Given the description of an element on the screen output the (x, y) to click on. 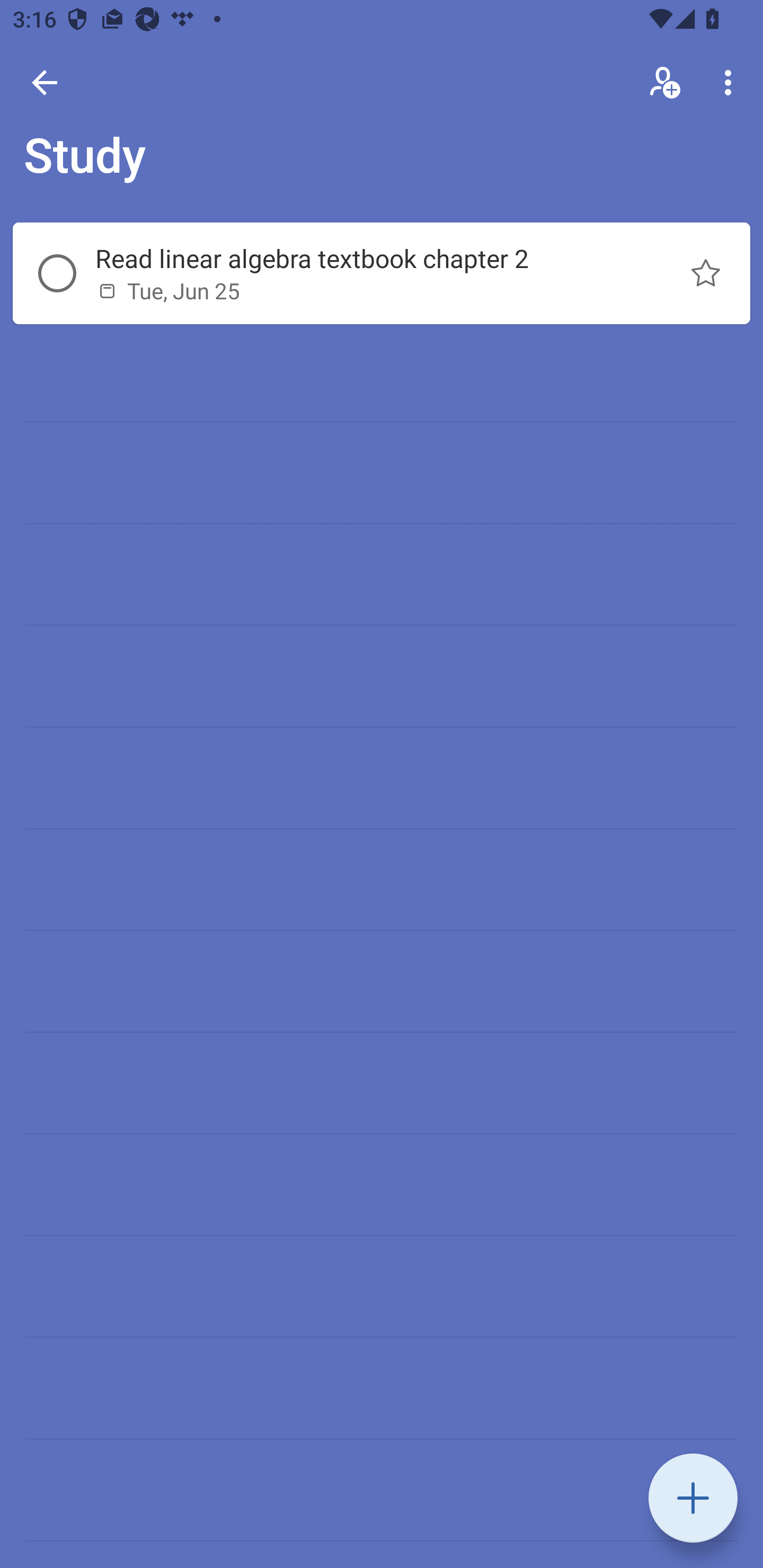
Add a task (692, 1497)
